Given the description of an element on the screen output the (x, y) to click on. 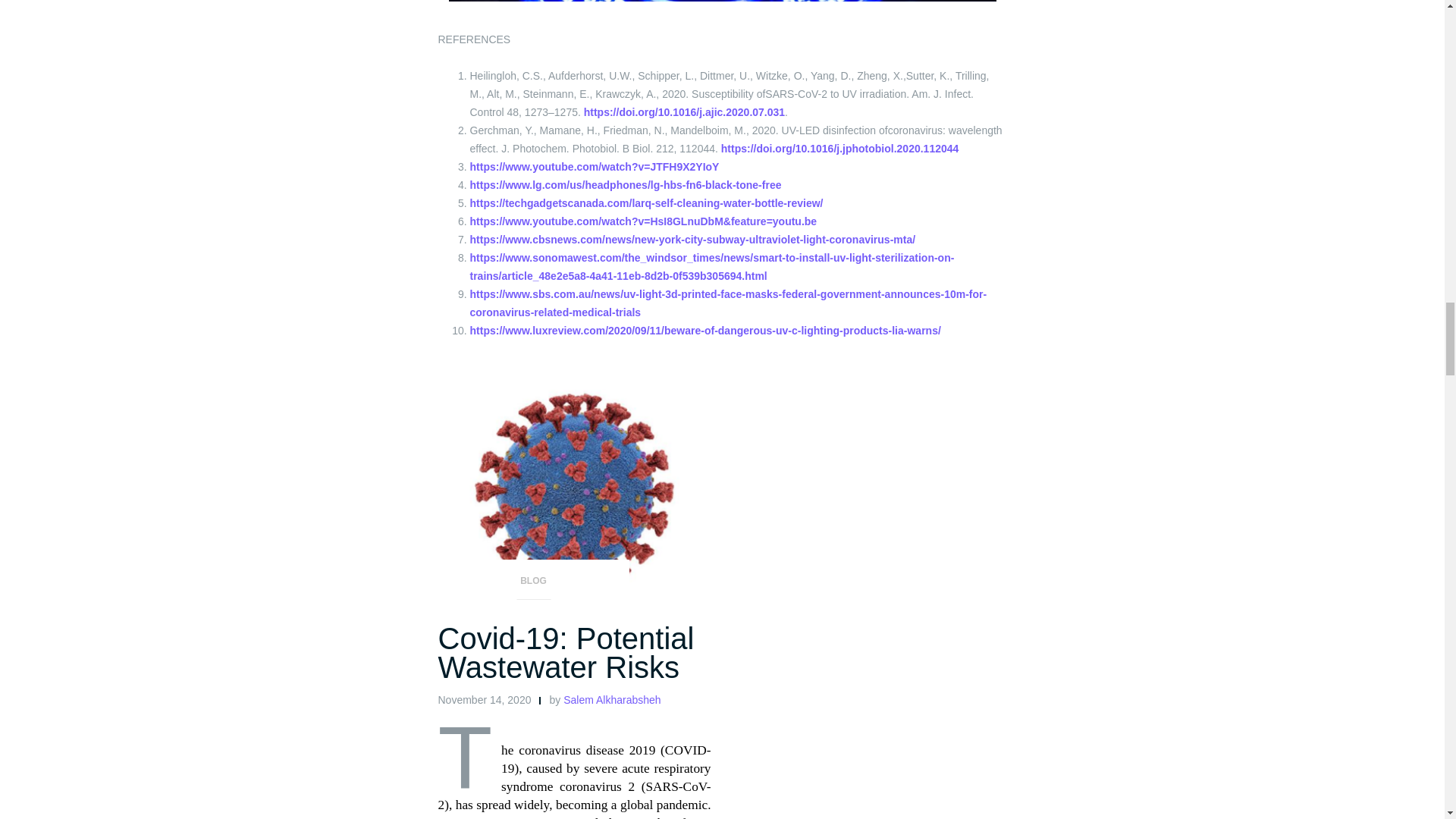
BLOG (533, 585)
Covid-19: Potential Wastewater Risks (566, 652)
Salem Alkharabsheh (612, 699)
